Given the description of an element on the screen output the (x, y) to click on. 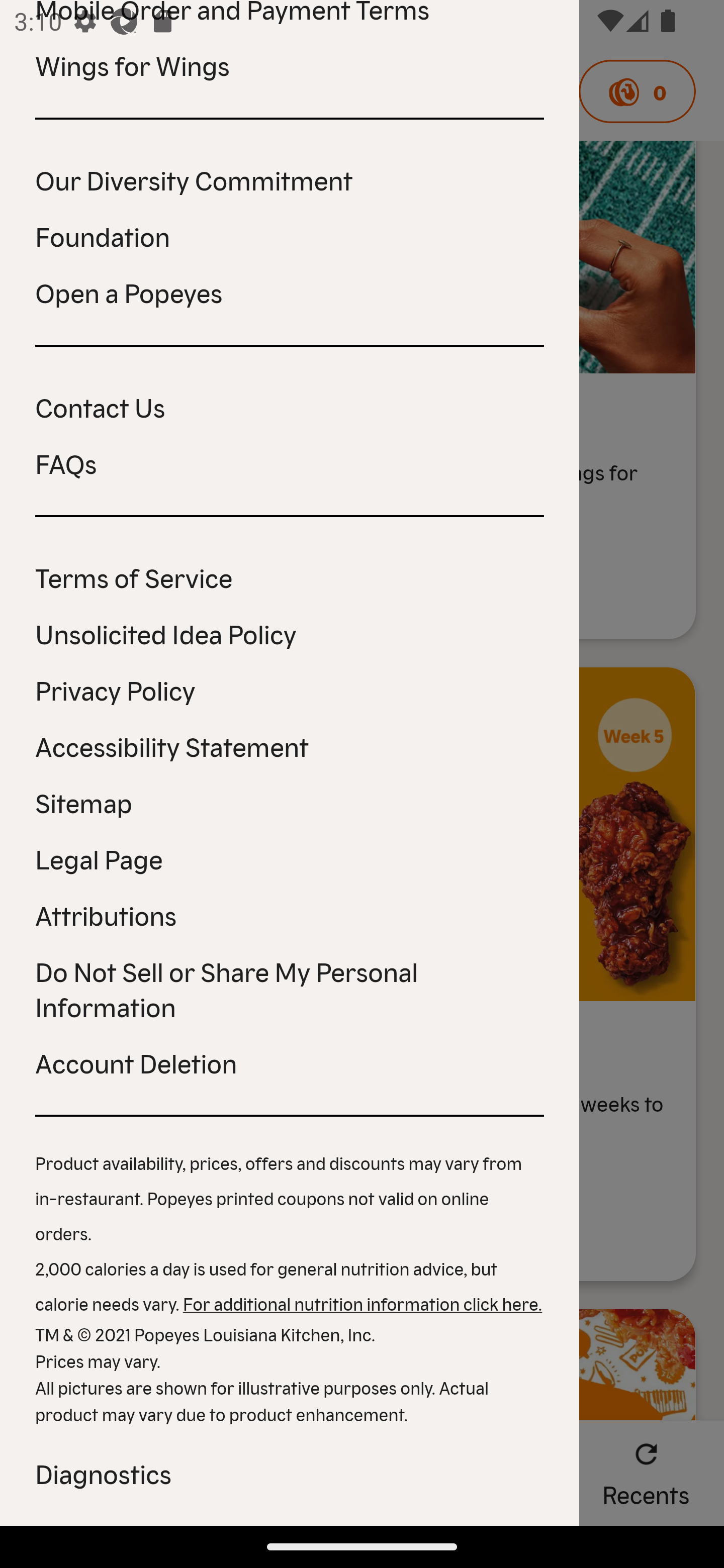
Wings for Wings (289, 65)
Our Diversity Commitment (289, 179)
Foundation (289, 235)
Open a Popeyes (289, 291)
Contact Us (289, 406)
FAQs (289, 462)
Terms of Service (289, 576)
Unsolicited Idea Policy (289, 633)
Privacy Policy (289, 689)
Accessibility Statement (289, 745)
Sitemap (289, 802)
Legal Page (289, 858)
Attributions (289, 914)
Do Not Sell or Share My Personal Information (289, 988)
Account Deletion (289, 1062)
Diagnostics (289, 1473)
